Given the description of an element on the screen output the (x, y) to click on. 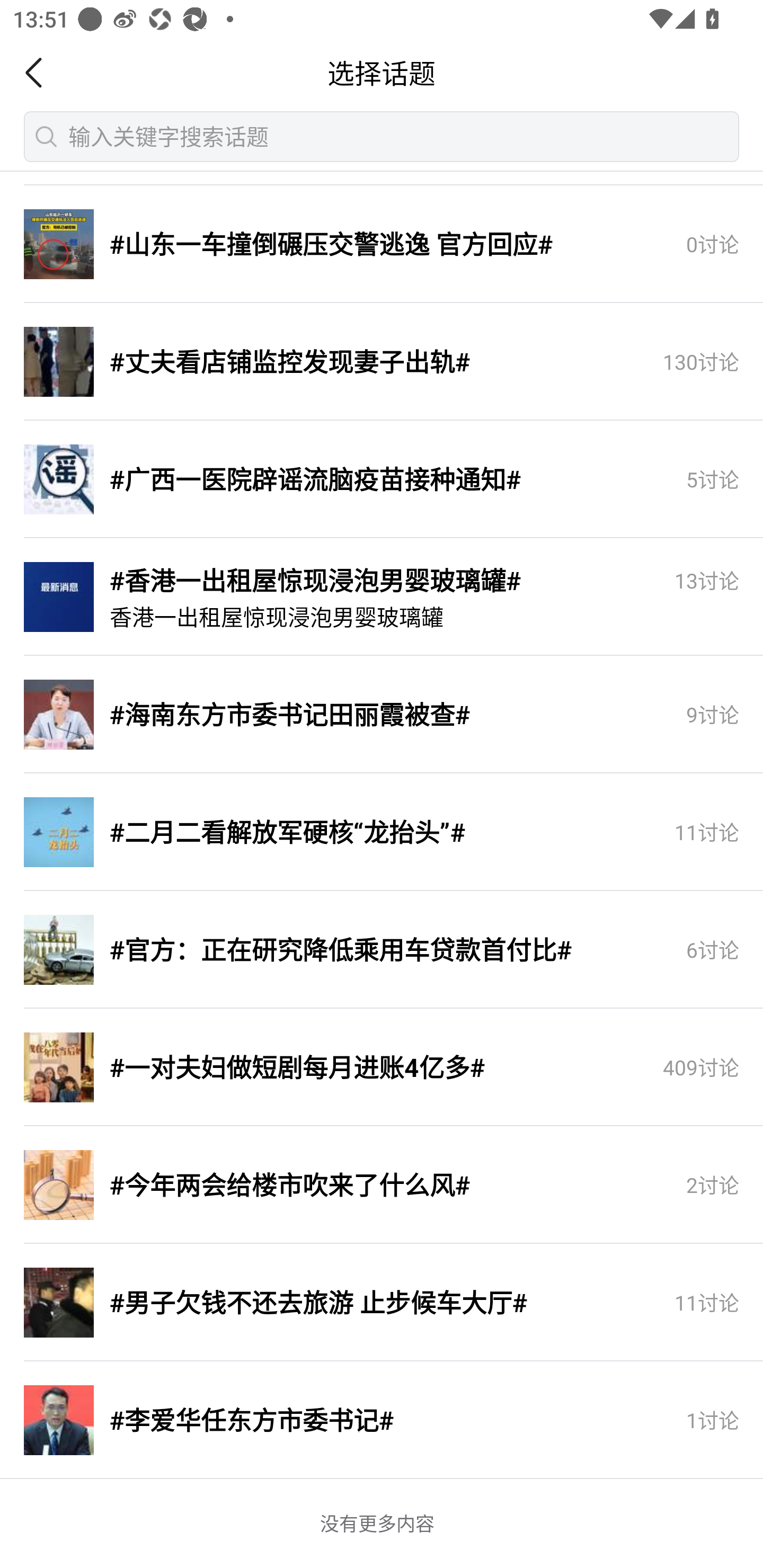
返回 (39, 72)
输入关键字搜索话题 (381, 136)
#山东一车撞倒碾压交警逃逸 官方回应# 0讨论 (381, 243)
#丈夫看店铺监控发现妻子出轨# 130讨论 (381, 361)
#广西一医院辟谣流脑疫苗接种通知# 5讨论 (381, 478)
#香港一出租屋惊现浸泡男婴玻璃罐# 13讨论 香港一出租屋惊现浸泡男婴玻璃罐 (381, 596)
#海南东方市委书记田丽霞被查# 9讨论 (381, 714)
#二月二看解放军硬核“龙抬头”# 11讨论 (381, 831)
#官方：正在研究降低乘用车贷款首付比# 6讨论 (381, 949)
#一对夫妇做短剧每月进账4亿多# 409讨论 (381, 1066)
#今年两会给楼市吹来了什么风# 2讨论 (381, 1184)
#男子欠钱不还去旅游 止步候车大厅# 11讨论 (381, 1302)
#李爱华任东方市委书记# 1讨论 (381, 1419)
